Given the description of an element on the screen output the (x, y) to click on. 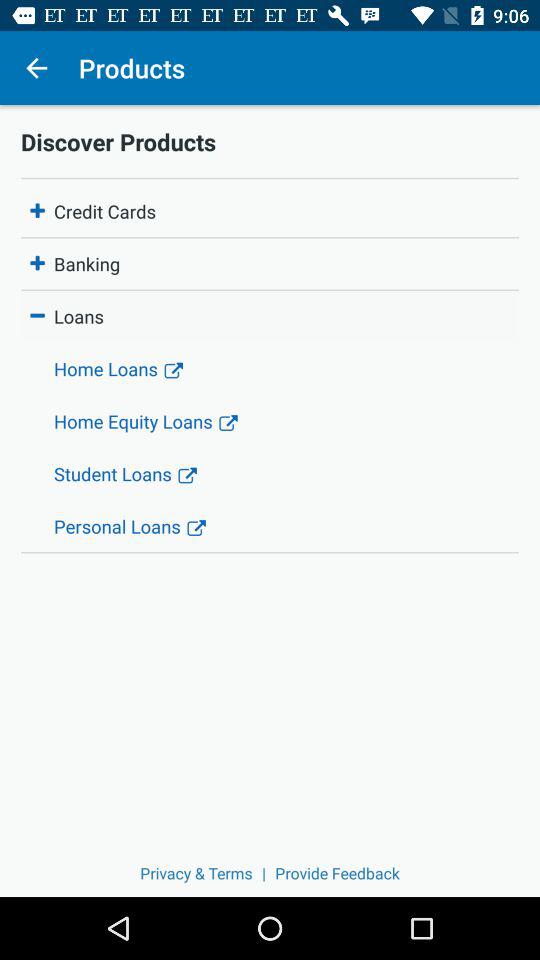
choose the icon to the left of | icon (196, 872)
